Given the description of an element on the screen output the (x, y) to click on. 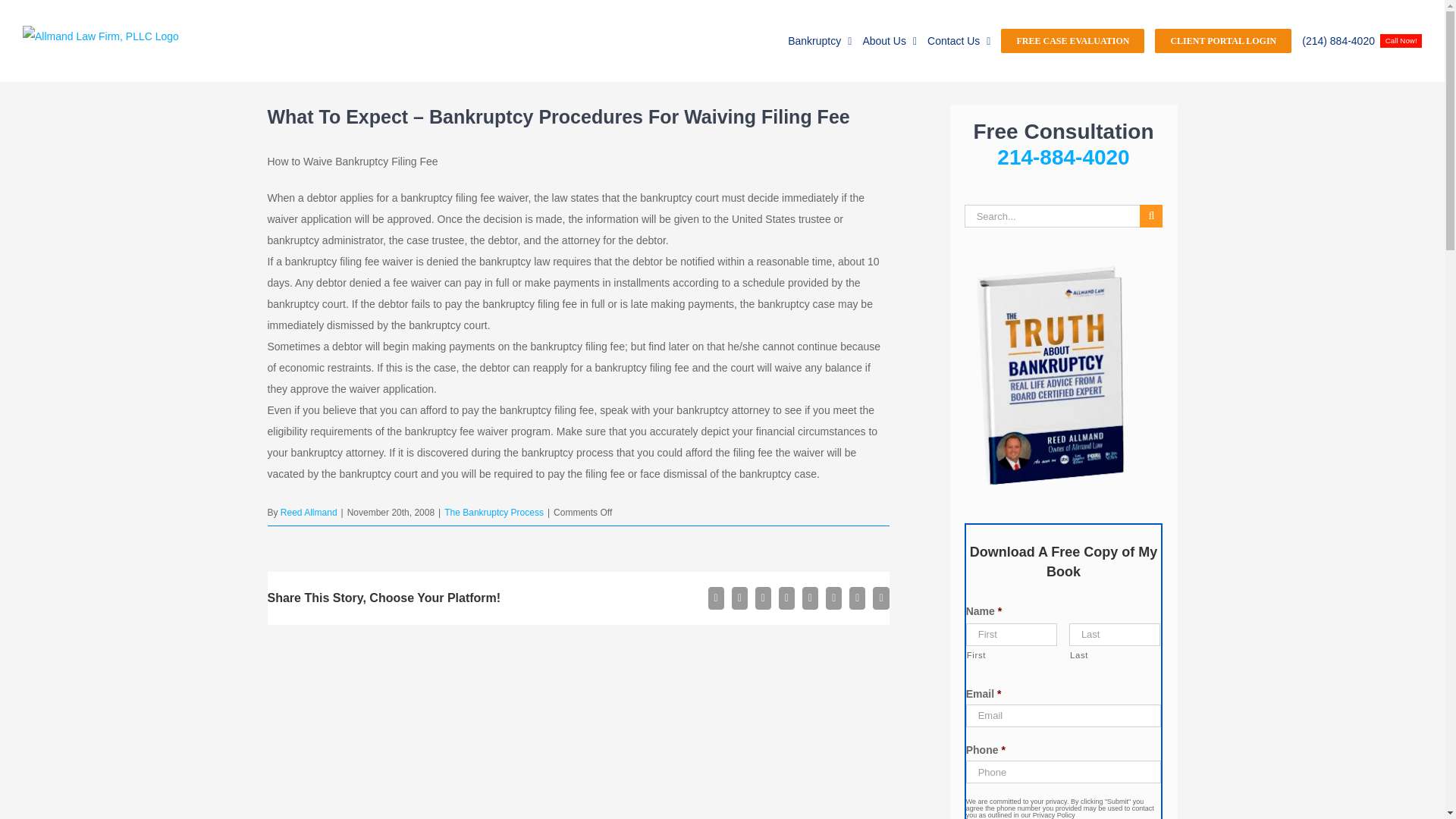
CLIENT PORTAL LOGIN (1222, 40)
Posts by Reed Allmand (309, 511)
Client Portal Login (1222, 40)
FREE CASE EVALUATION (1072, 40)
